Given the description of an element on the screen output the (x, y) to click on. 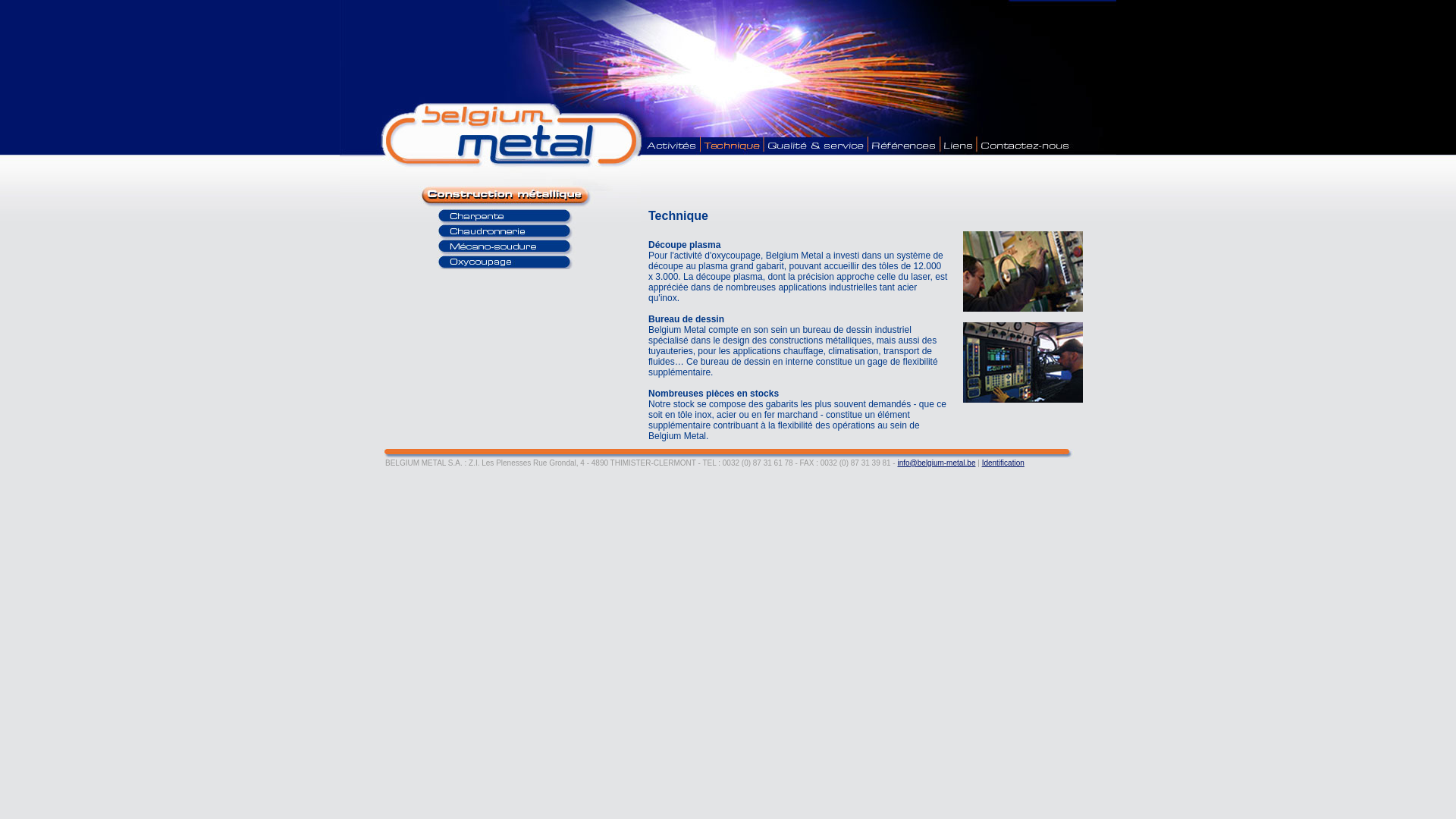
info@belgium-metal.be Element type: text (936, 462)
Identification Element type: text (1003, 462)
